Given the description of an element on the screen output the (x, y) to click on. 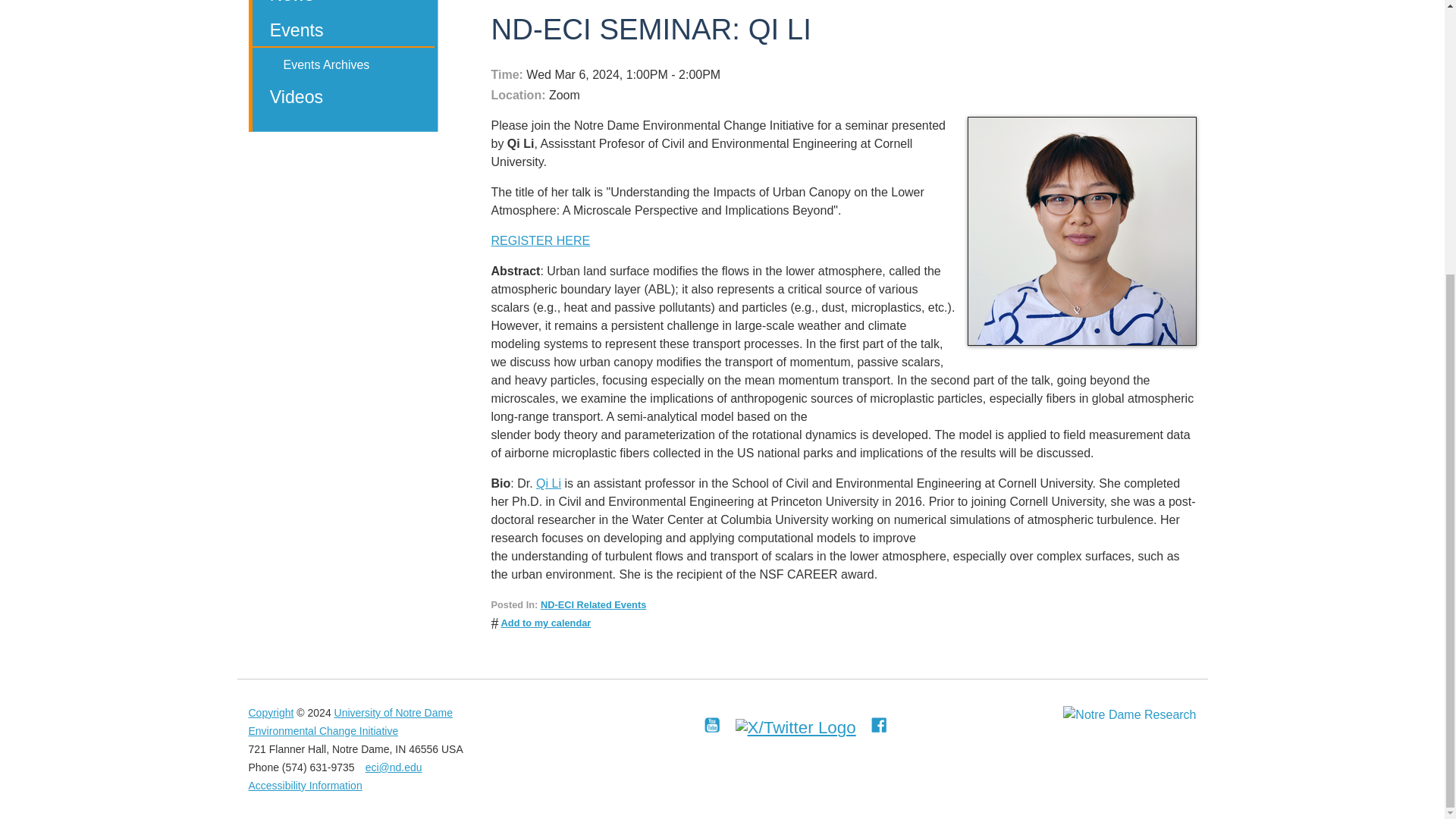
Videos (342, 98)
REGISTER HERE (541, 240)
ND-ECI Related Events (593, 604)
Qi Li (547, 482)
Wed Mar  6, 2024  1:00PM -  2:00PM (838, 75)
Events (342, 31)
News (342, 6)
University of Notre Dame (393, 712)
Events Archives (342, 66)
Copyright (271, 712)
Add to my calendar (545, 622)
